Given the description of an element on the screen output the (x, y) to click on. 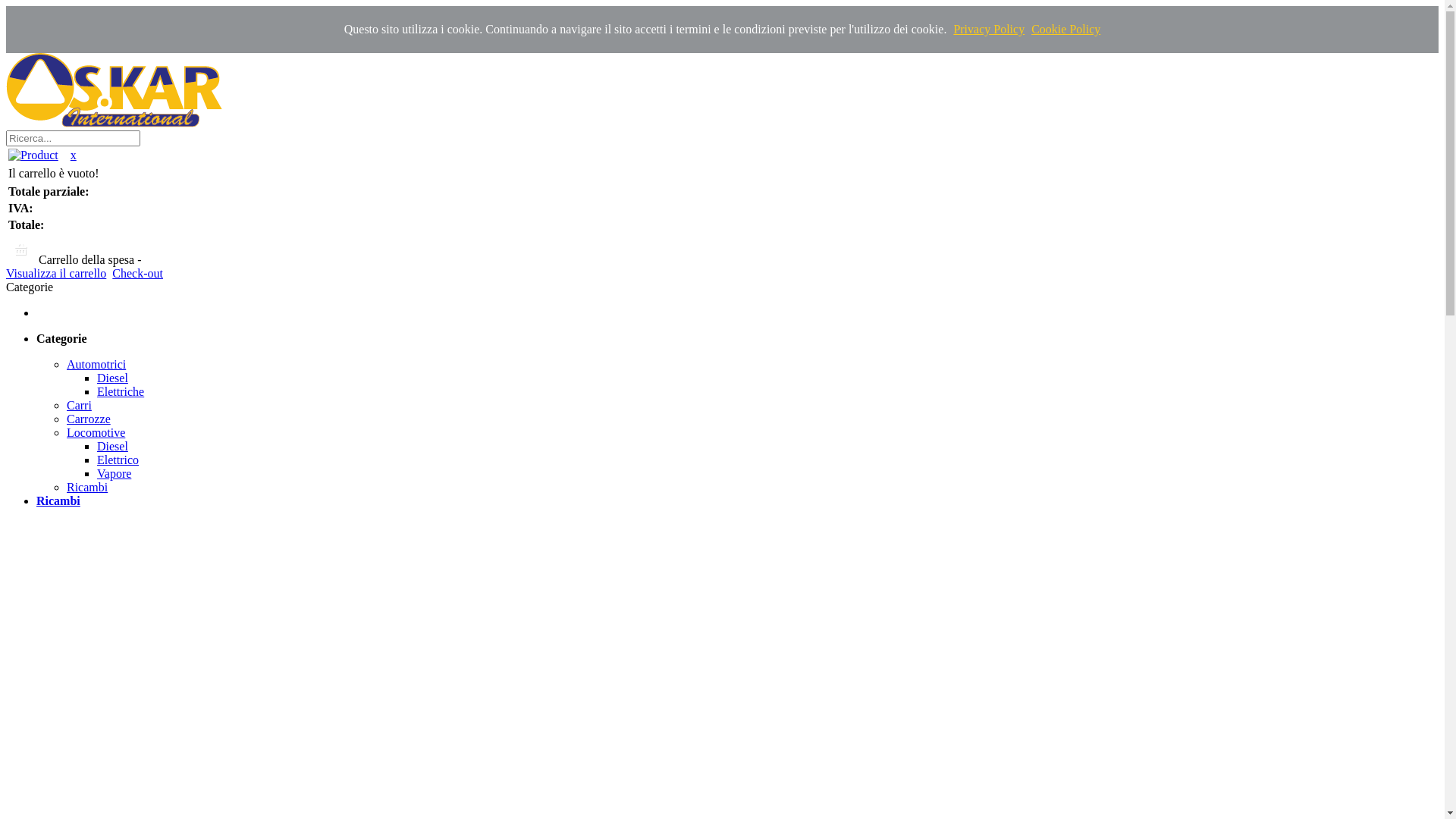
Vapore Element type: text (114, 473)
Cookie Policy Element type: text (1065, 28)
Ricambi Element type: text (86, 486)
Ricambi Element type: text (58, 500)
Product Element type: hover (33, 155)
Elettriche Element type: text (120, 391)
x Element type: text (73, 154)
Automotrici Element type: text (95, 363)
Carri Element type: text (78, 404)
Visualizza il carrello Element type: text (56, 272)
Elettrico Element type: text (117, 459)
Locomotive Element type: text (95, 432)
Categorie Element type: text (61, 338)
Diesel Element type: text (112, 445)
Your Store Element type: hover (114, 90)
Diesel Element type: text (112, 377)
Privacy Policy Element type: text (988, 28)
Check-out Element type: text (137, 272)
Carrozze Element type: text (88, 418)
